Given the description of an element on the screen output the (x, y) to click on. 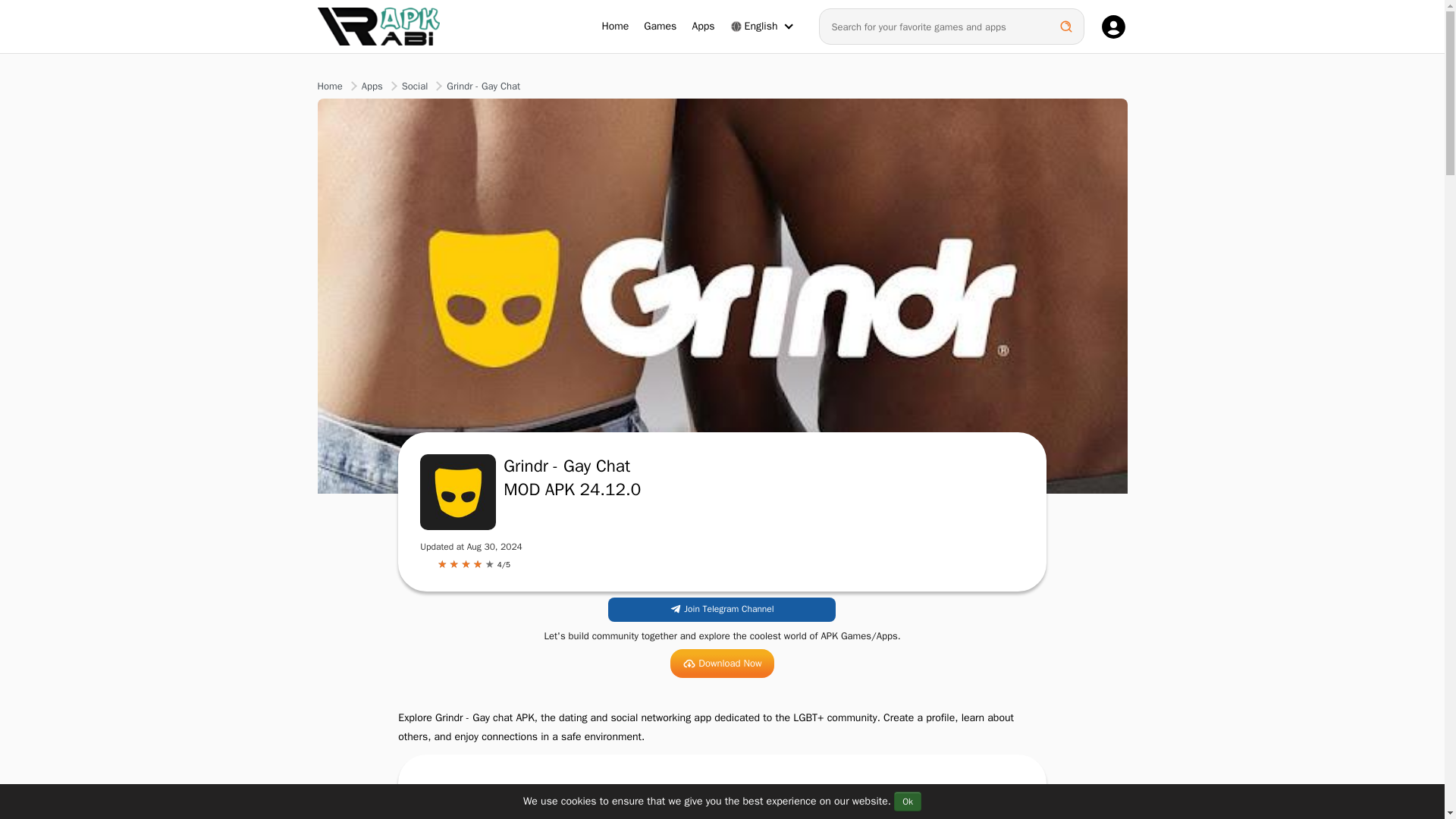
Social (414, 85)
Home (329, 85)
Join Telegram Channel (721, 609)
Search Apk (1065, 26)
Games (660, 26)
Apps (371, 85)
Games (660, 26)
Home (615, 26)
Home (615, 26)
English (754, 26)
